Given the description of an element on the screen output the (x, y) to click on. 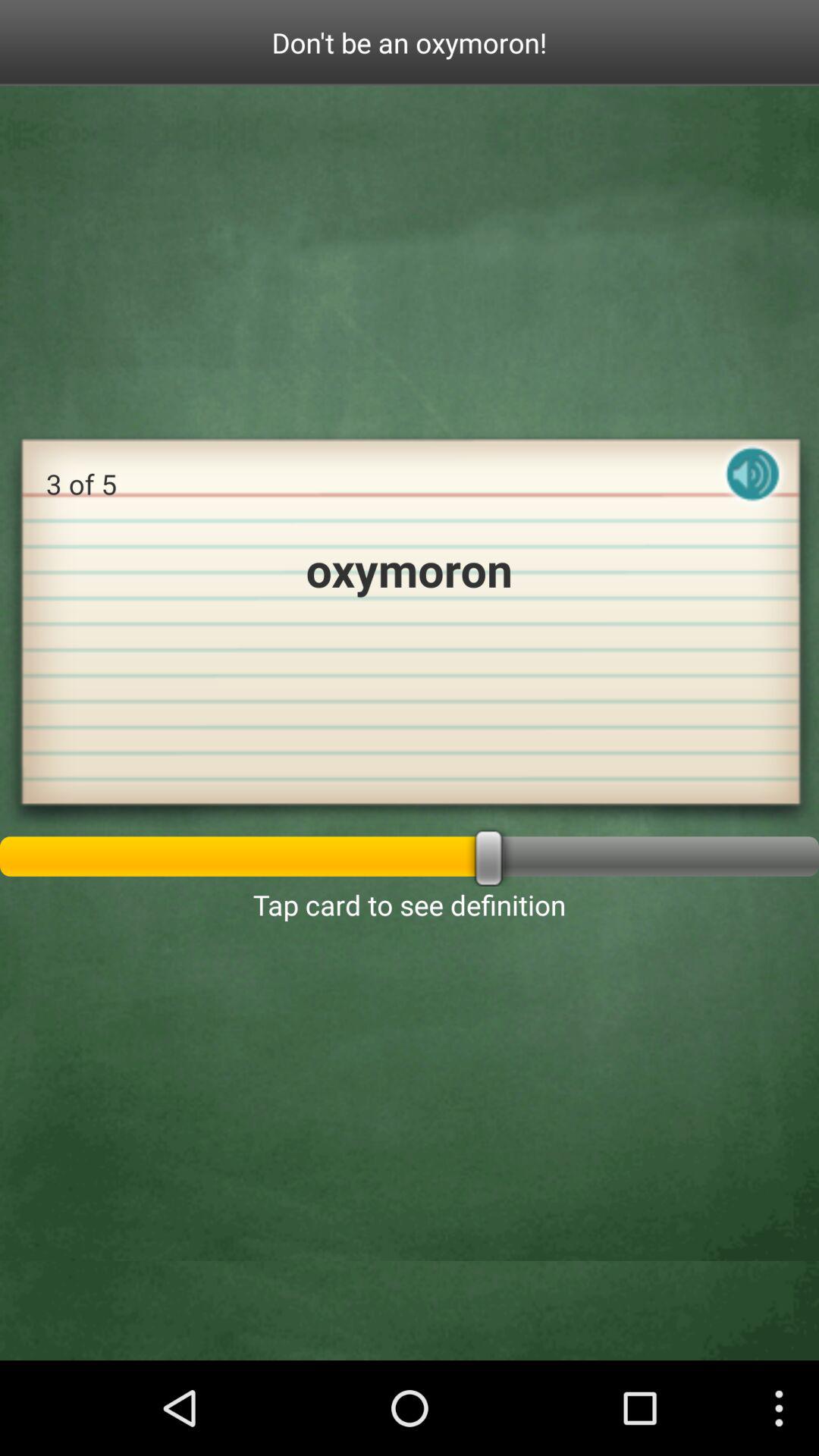
toggle sound (752, 486)
